Given the description of an element on the screen output the (x, y) to click on. 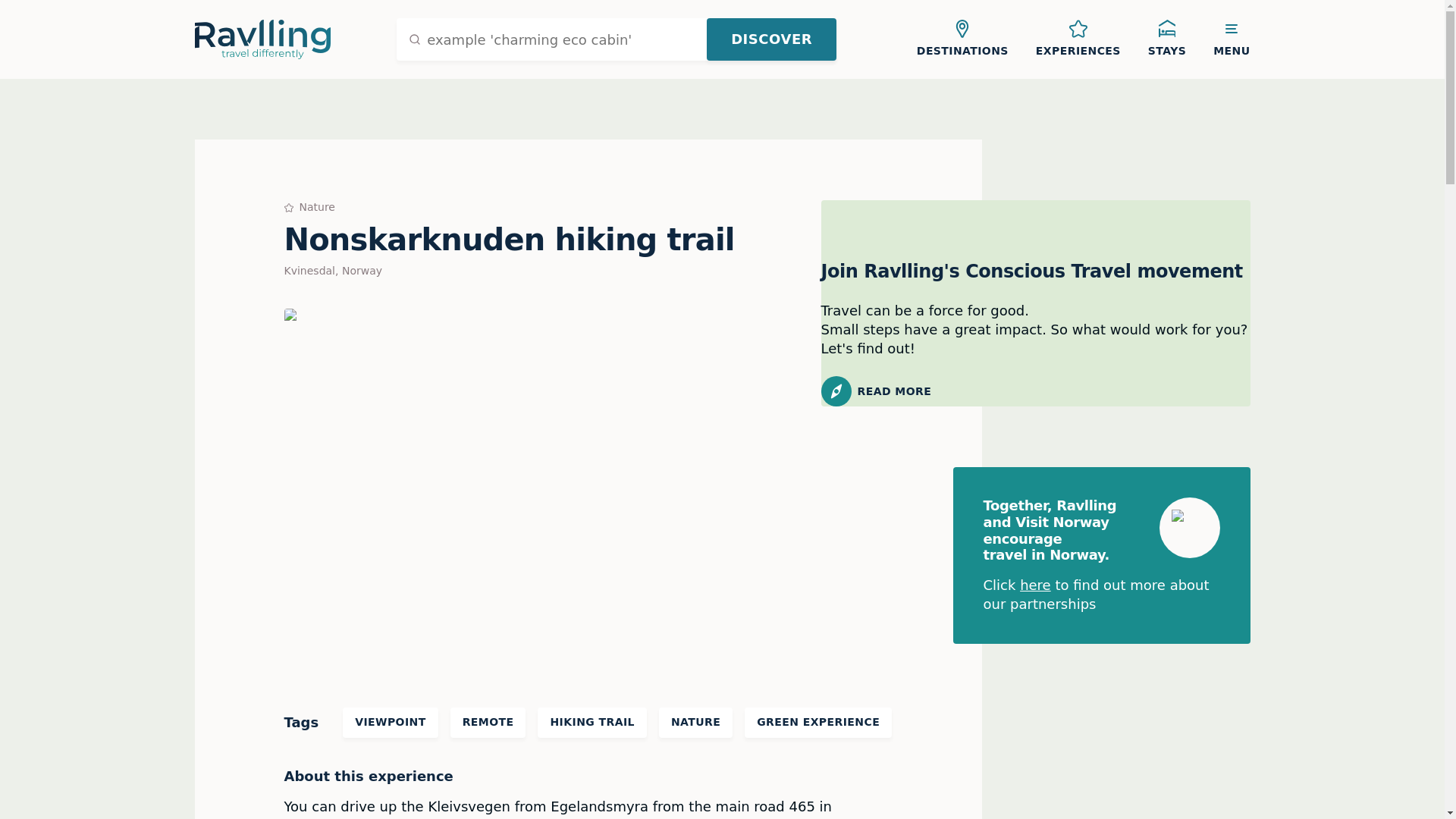
READ MORE (1035, 390)
GREEN EXPERIENCE (817, 722)
NATURE (695, 722)
VIEWPOINT (390, 722)
DESTINATIONS (962, 38)
here (1035, 584)
STAYS (1166, 38)
REMOTE (487, 722)
MENU (1231, 38)
DISCOVER (770, 39)
